Given the description of an element on the screen output the (x, y) to click on. 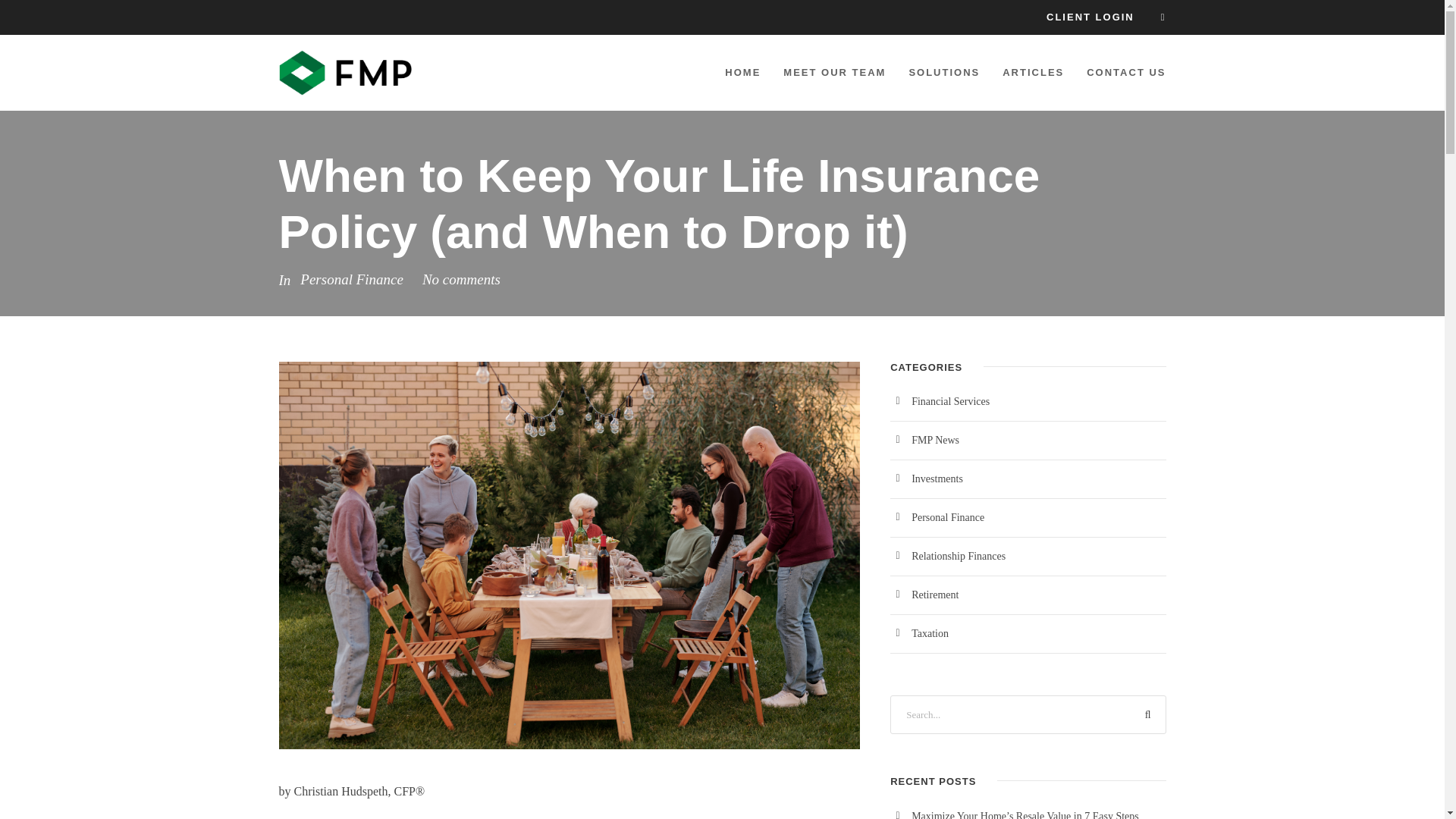
FMP News (935, 439)
CONTACT US (1126, 74)
No comments (461, 279)
HOME (742, 74)
ARTICLES (1033, 74)
FMP-Logo-Transparent (345, 72)
SOLUTIONS (943, 74)
Financial Services (950, 401)
Personal Finance (351, 279)
CLIENT LOGIN (1090, 16)
MEET OUR TEAM (834, 74)
